Given the description of an element on the screen output the (x, y) to click on. 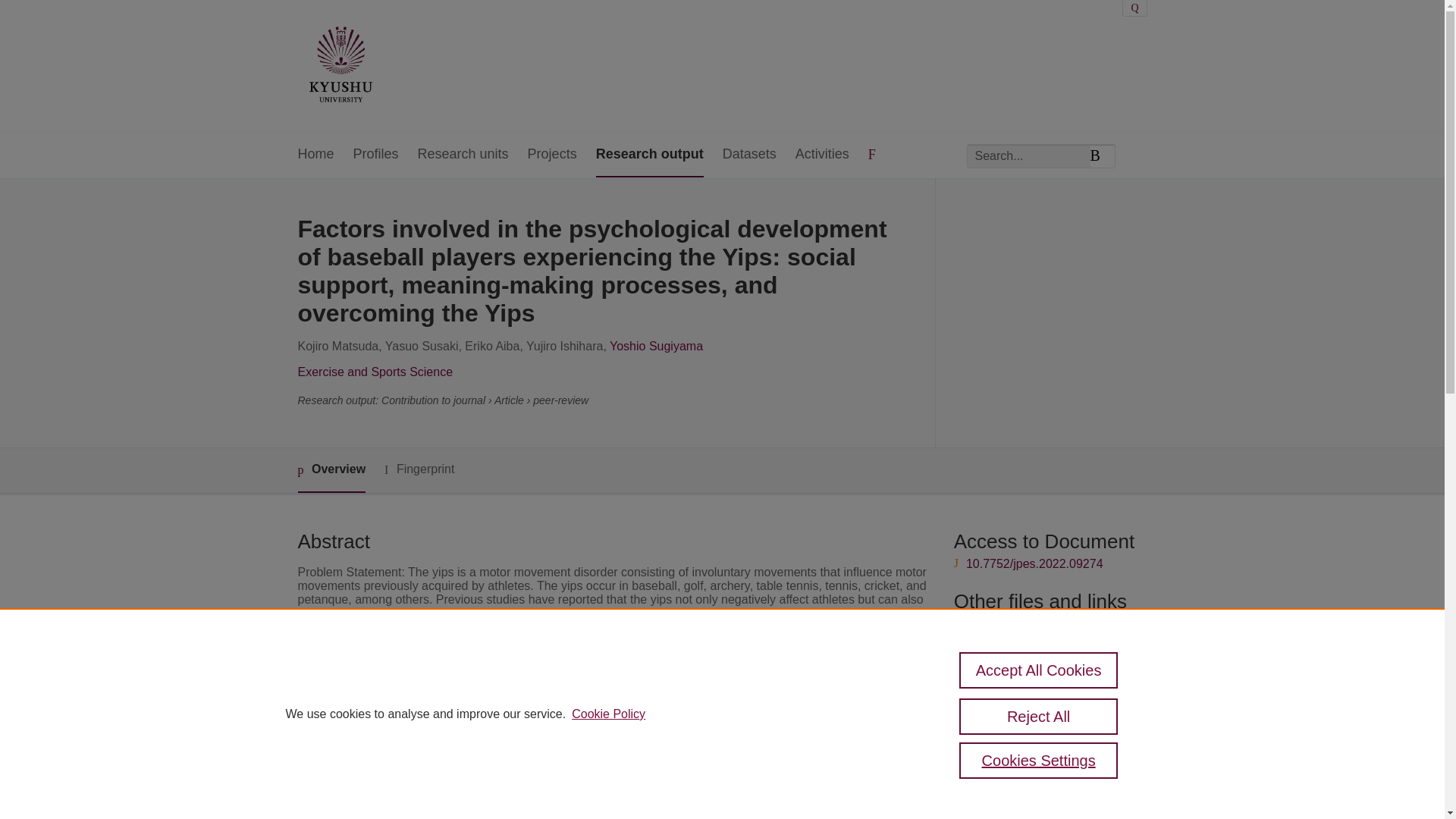
Activities (821, 154)
Exercise and Sports Science (374, 371)
Profiles (375, 154)
Fingerprint (419, 469)
Research output (649, 154)
Research units (462, 154)
Link to the citations in Scopus (1048, 648)
Overview (331, 470)
Link to publication in Scopus (1045, 623)
